Given the description of an element on the screen output the (x, y) to click on. 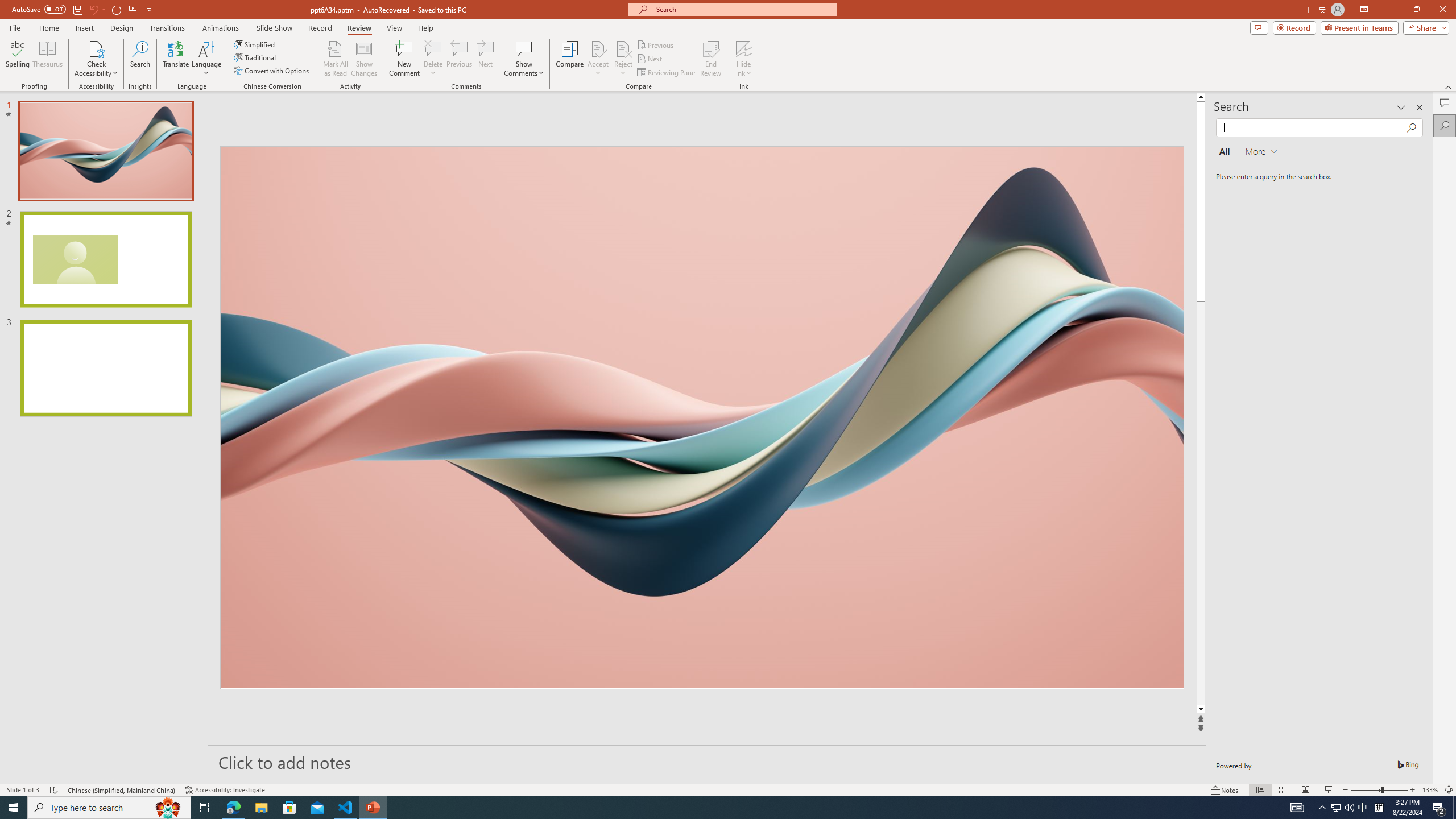
Compare (569, 58)
Thesaurus... (47, 58)
Reject Change (622, 48)
Translate (175, 58)
